Given the description of an element on the screen output the (x, y) to click on. 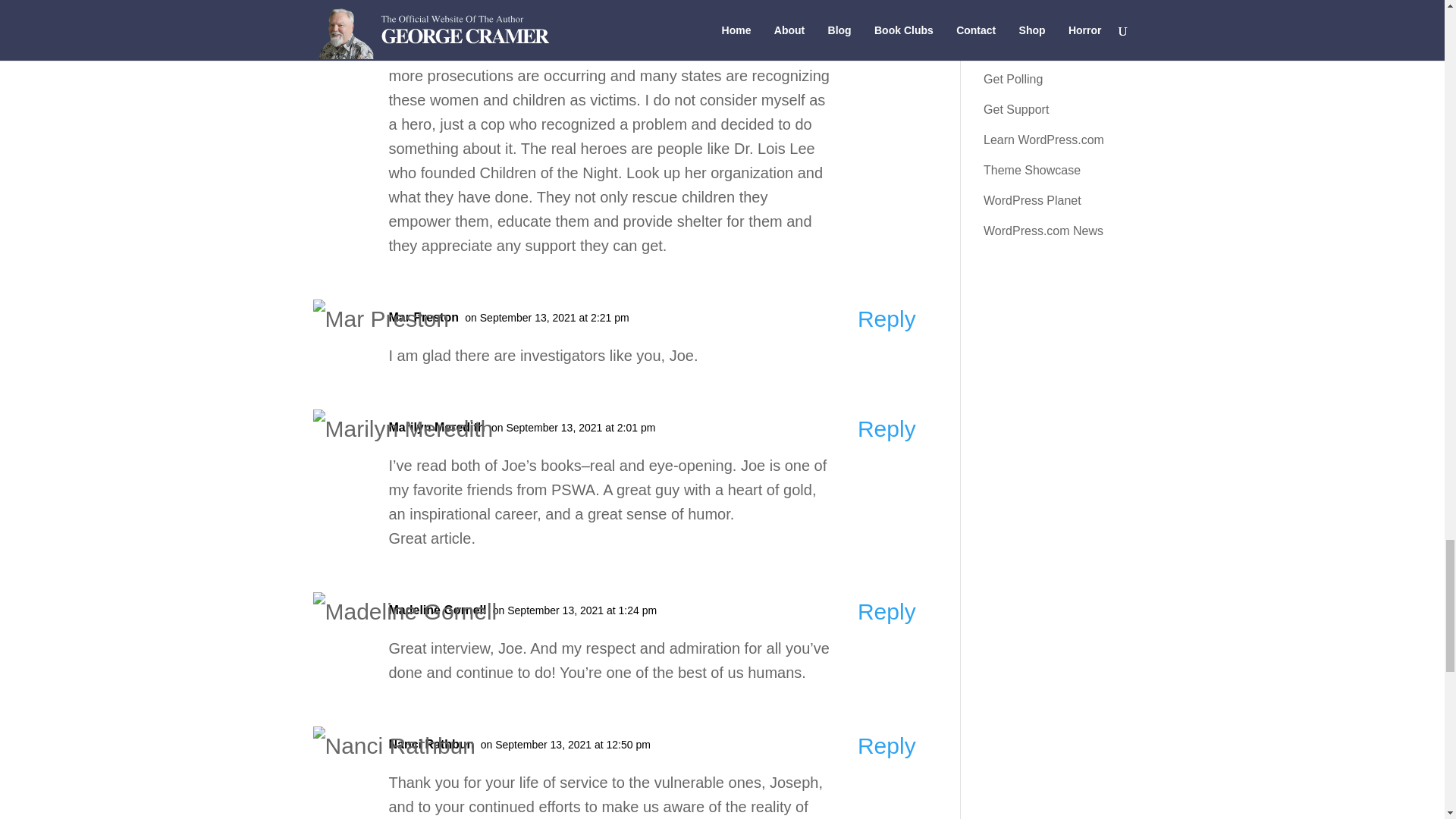
Reply (886, 428)
Madeline Gornell (437, 609)
Reply (886, 745)
Reply (886, 611)
Reply (886, 318)
Mar Preston (423, 317)
Marilyn Meredith (436, 426)
Nanci Rathbun (431, 743)
